Given the description of an element on the screen output the (x, y) to click on. 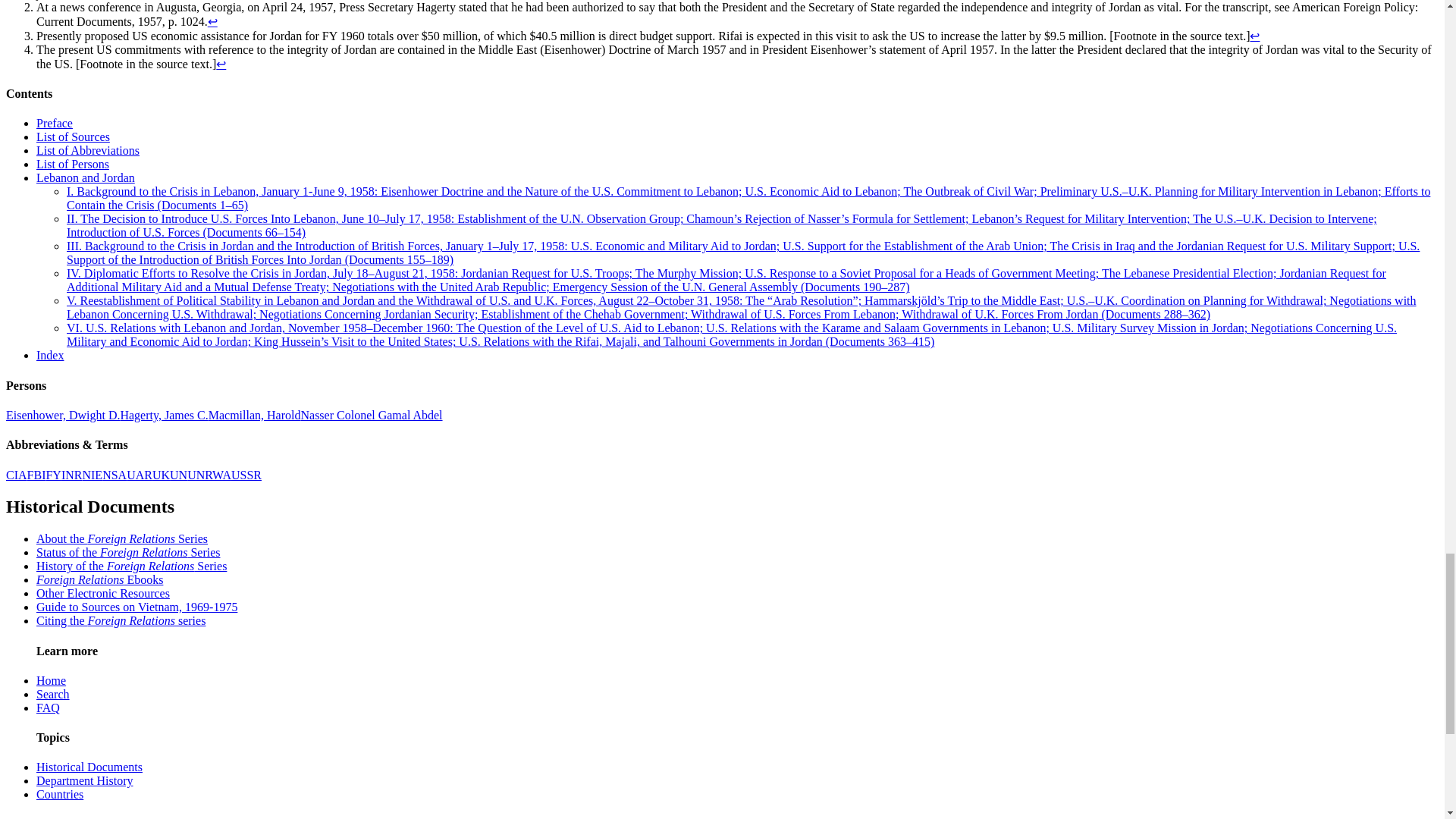
Bureau of Intelligence and Research, Department of State (71, 474)
President of the United States (62, 414)
United Arab Republic (139, 474)
United Kingdom (161, 474)
Press Secretary to the President (163, 414)
British Prime Minister (254, 414)
National Security Agency (113, 474)
Federal Bureau of Investigation (36, 474)
fiscal year (53, 474)
Union of Soviet Socialist Republics (246, 474)
United Nations (178, 474)
National Intelligence Estimate (91, 474)
Central Intelligence Agency (16, 474)
